Given the description of an element on the screen output the (x, y) to click on. 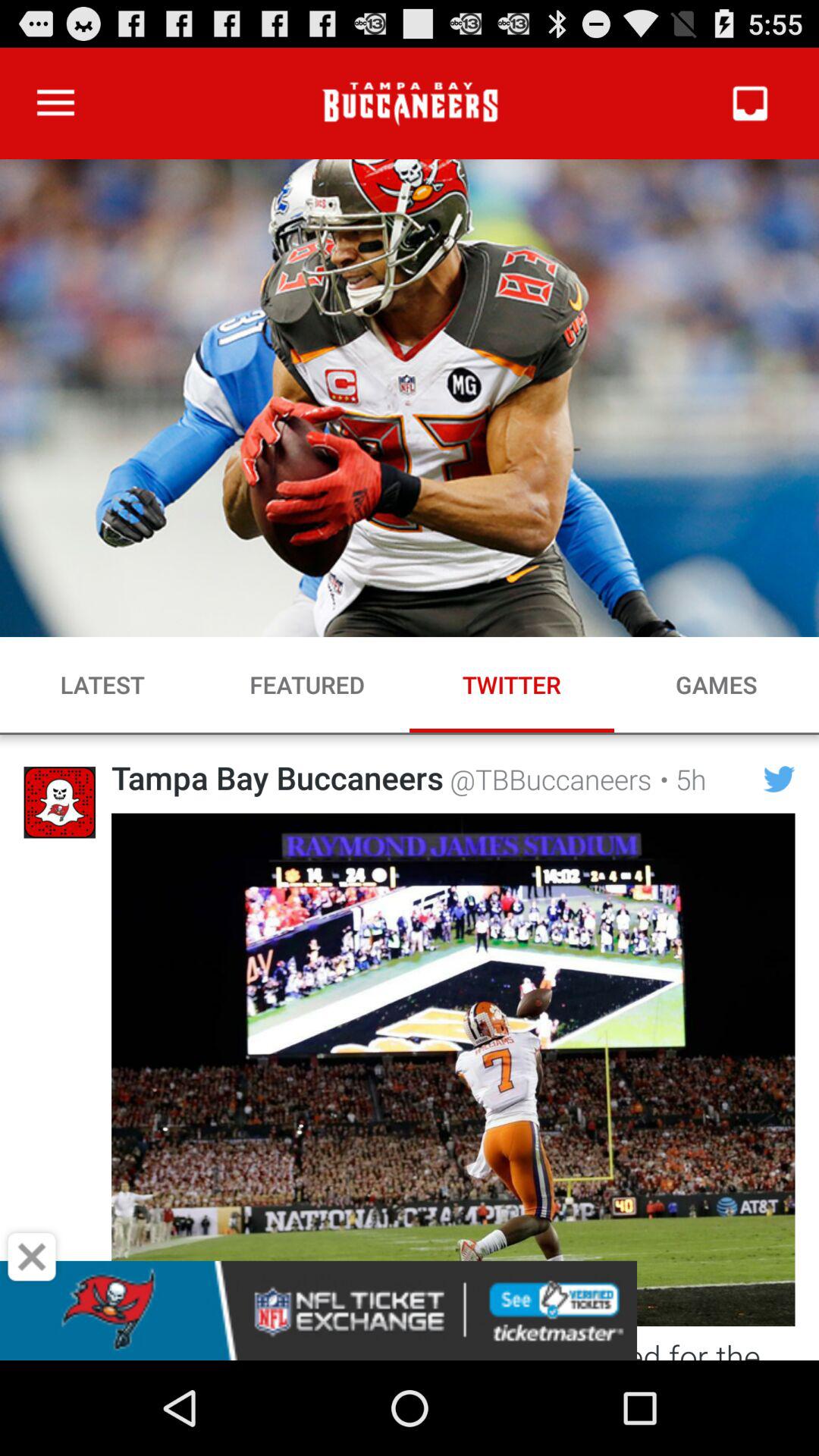
close tag (31, 1256)
